Given the description of an element on the screen output the (x, y) to click on. 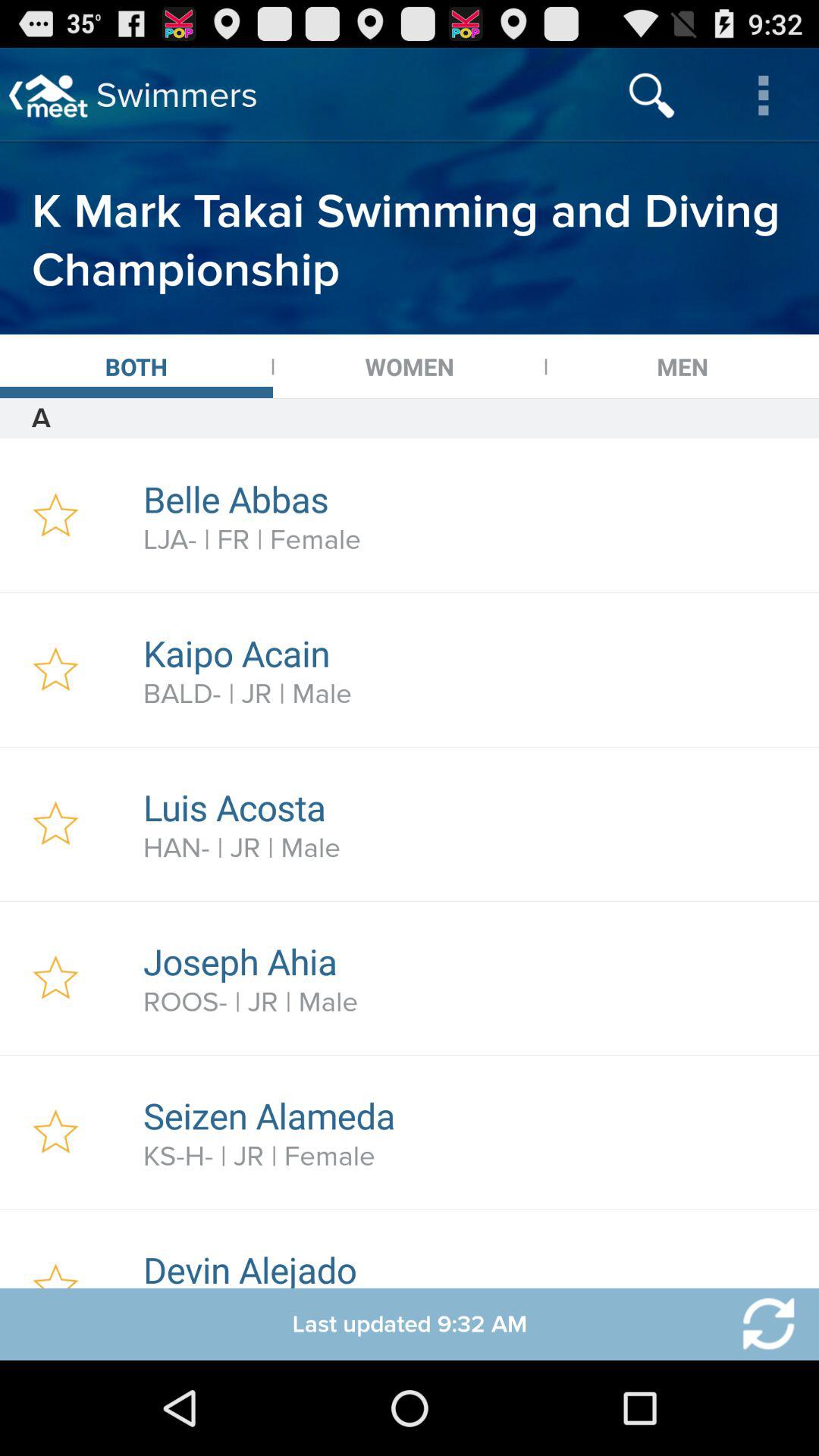
star entry (55, 515)
